Given the description of an element on the screen output the (x, y) to click on. 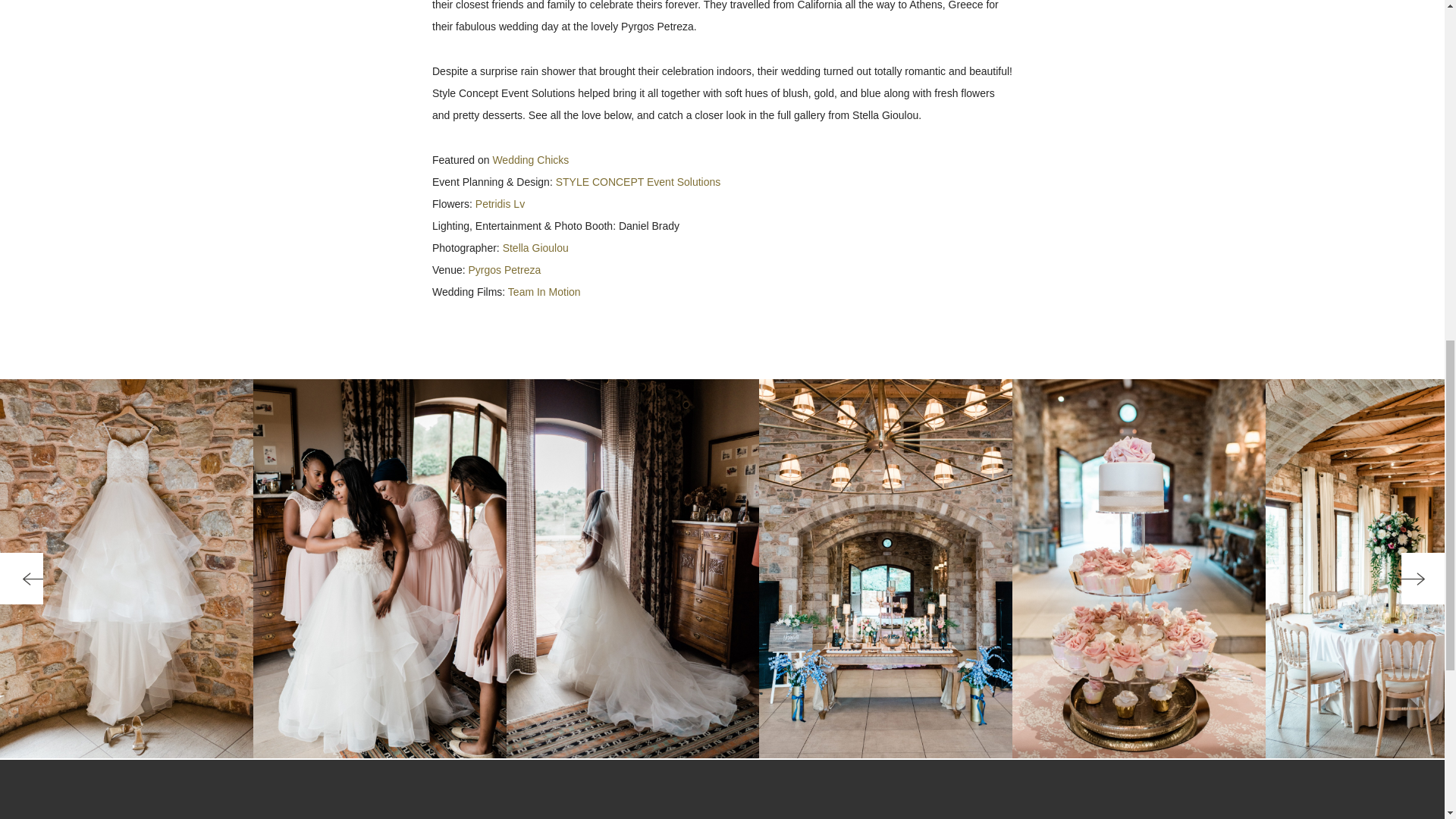
Stella Gioulou (535, 247)
STYLE CONCEPT Event Solutions (638, 182)
Wedding Chicks (530, 159)
Petridis Lv (500, 203)
